Given the description of an element on the screen output the (x, y) to click on. 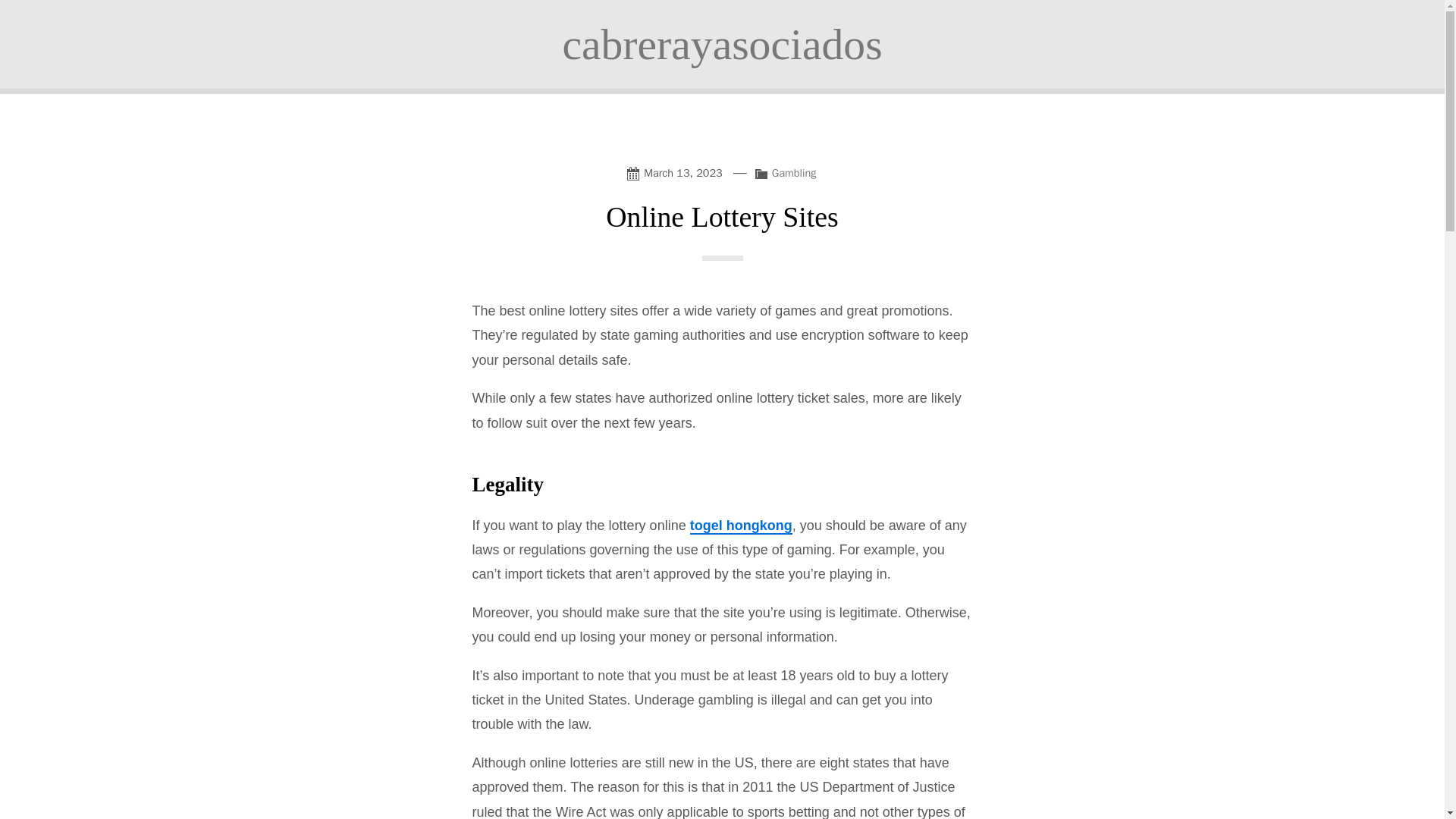
Gambling (793, 172)
togel hongkong (741, 525)
cabrerayasociados (722, 43)
